Given the description of an element on the screen output the (x, y) to click on. 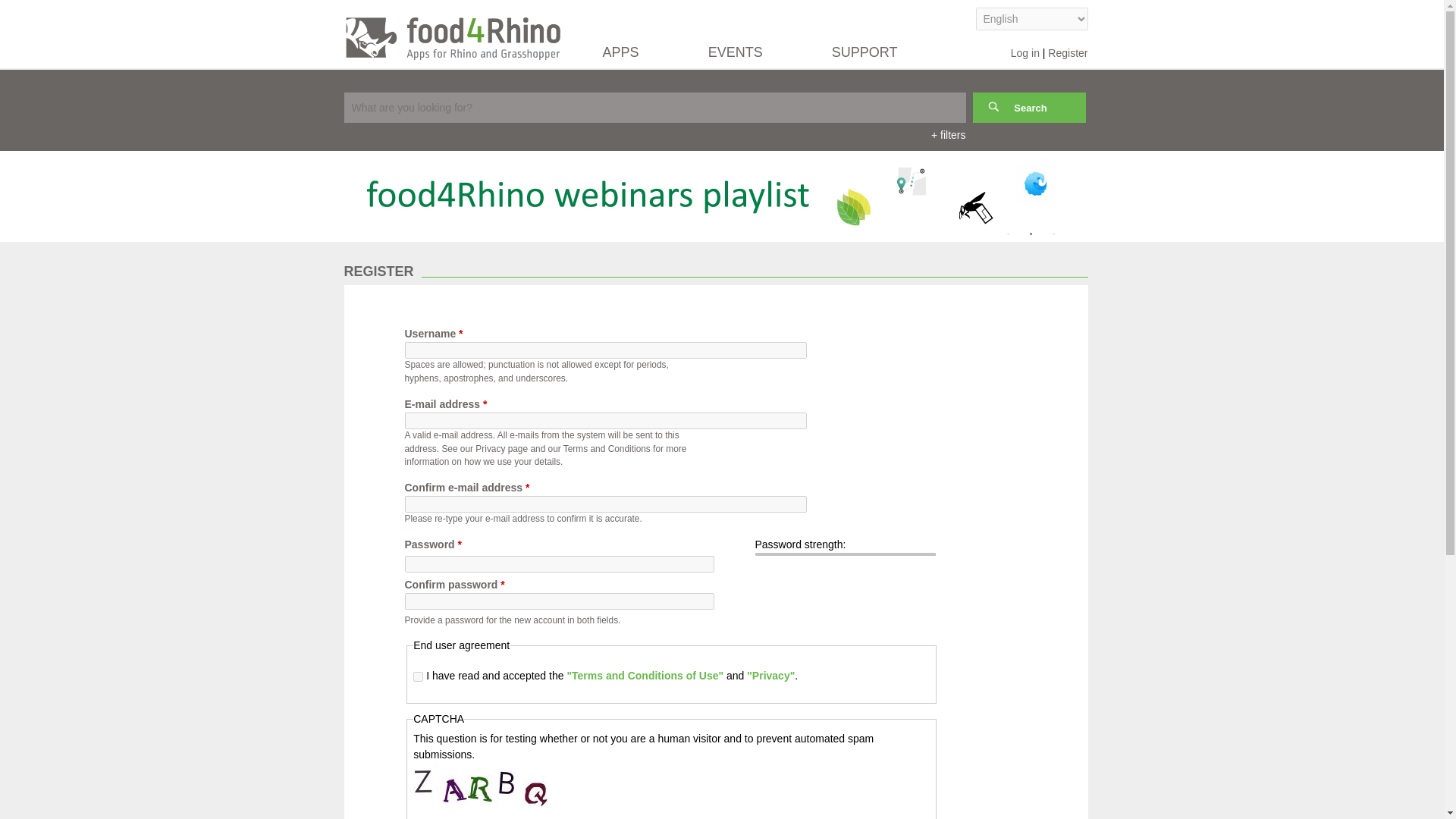
EVENTS (734, 55)
APPS (620, 55)
SUPPORT (864, 55)
Image CAPTCHA (481, 785)
1 (1008, 233)
Enter the terms you wish to search for. (654, 107)
3 (1053, 233)
"Terms and Conditions of Use" (644, 675)
Search (1028, 107)
Register (1067, 52)
Search (1028, 107)
News (171, 195)
"Privacy" (770, 675)
2 (1031, 233)
